Given the description of an element on the screen output the (x, y) to click on. 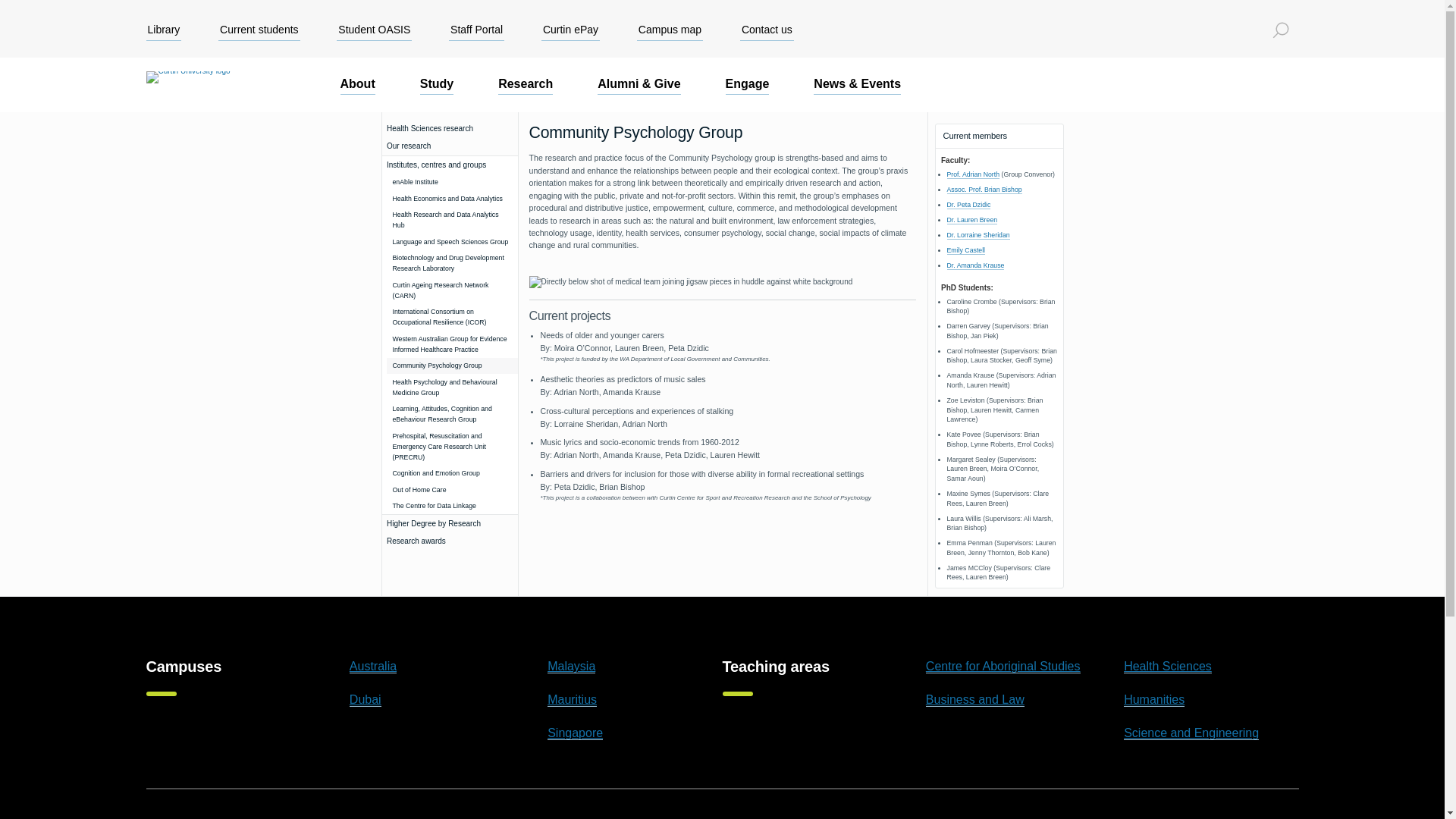
Library (162, 29)
Opens in a new window (977, 234)
Research (525, 84)
Student OASIS (374, 29)
About (356, 84)
Study (436, 84)
Staff Portal (475, 29)
Opens in a new window (975, 265)
Campus map (670, 29)
Curtin ePay (570, 29)
Current students (258, 29)
Opens in a new window (965, 250)
Contact us (766, 29)
